Given the description of an element on the screen output the (x, y) to click on. 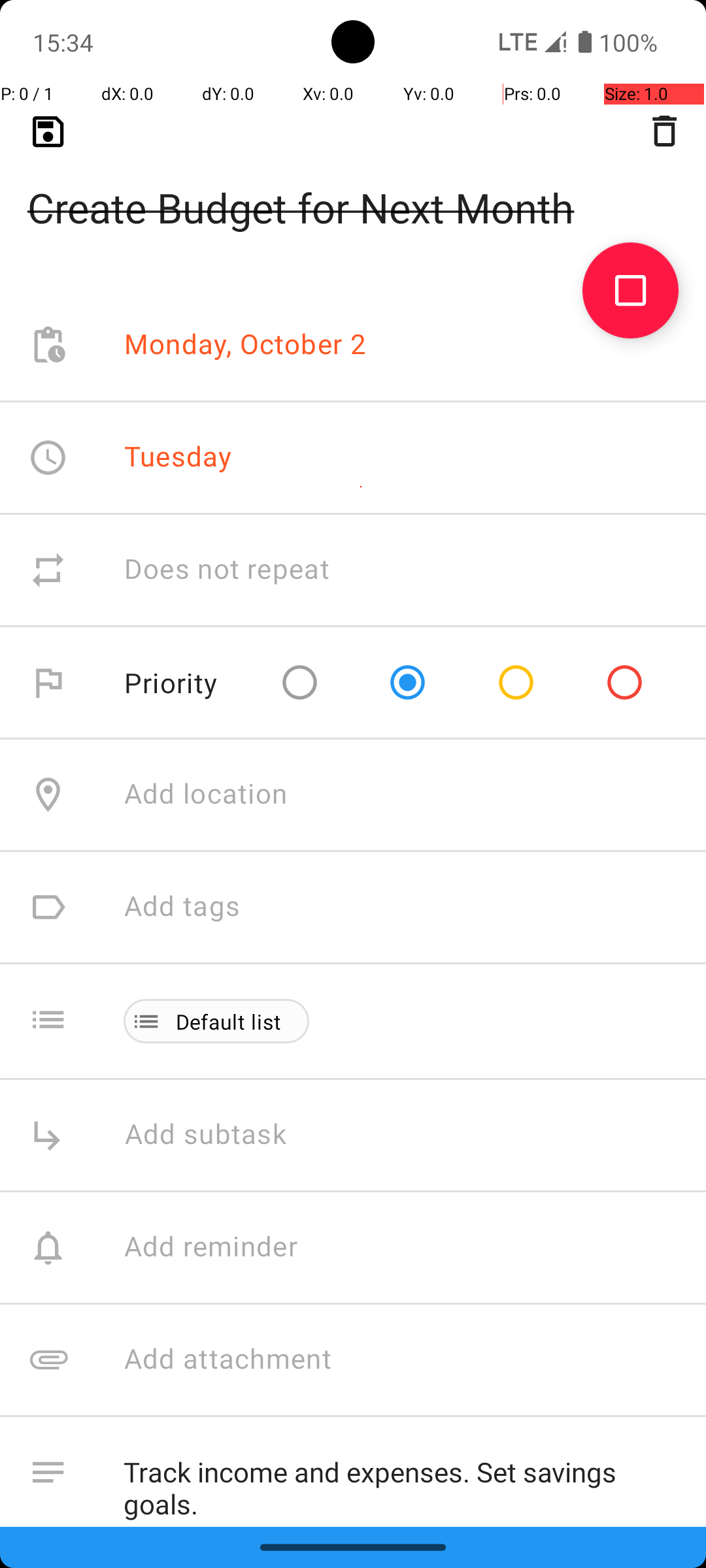
Monday, October 2 Element type: android.widget.TextView (245, 344)
